Given the description of an element on the screen output the (x, y) to click on. 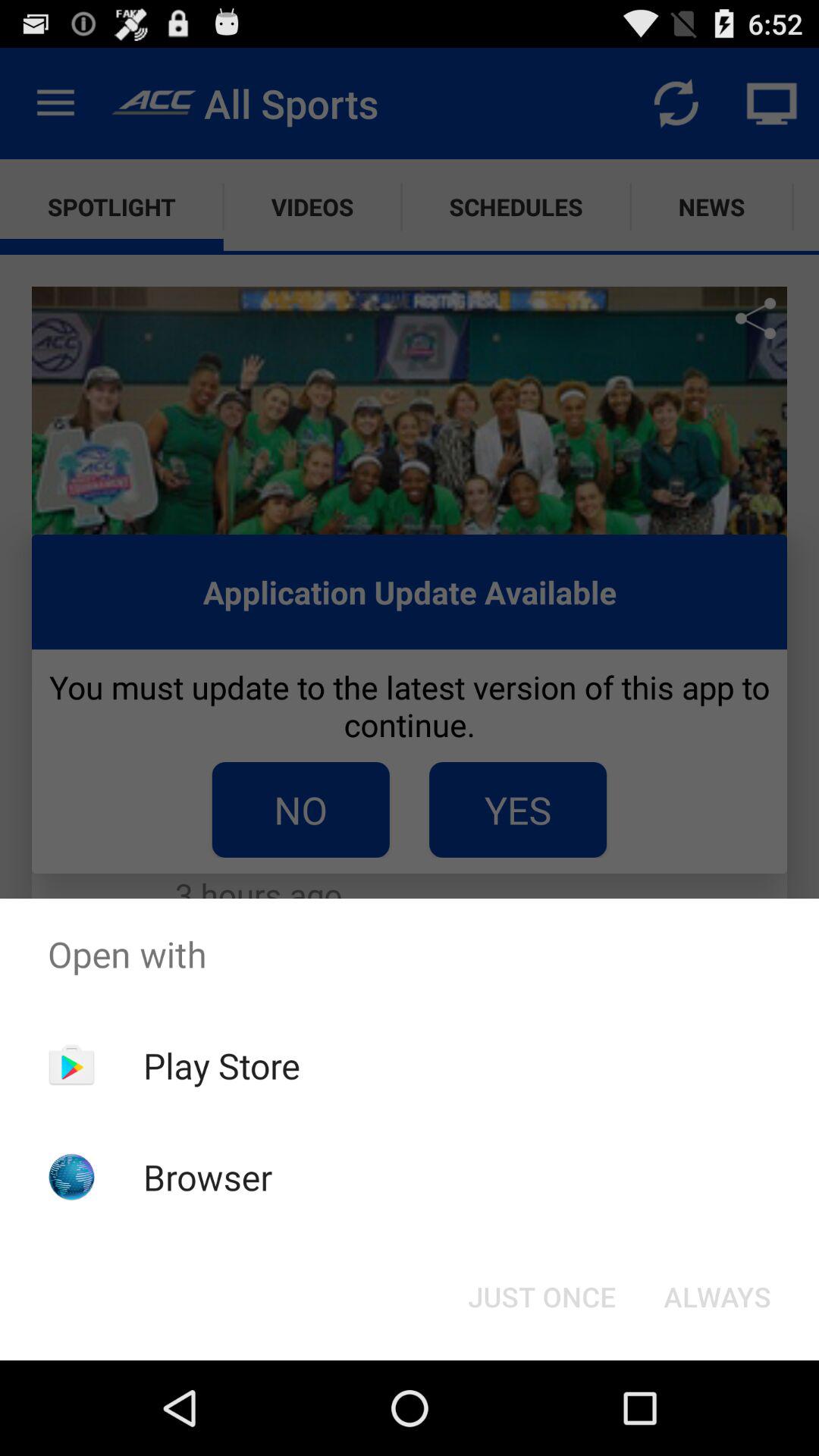
turn off the item below the play store icon (207, 1176)
